Given the description of an element on the screen output the (x, y) to click on. 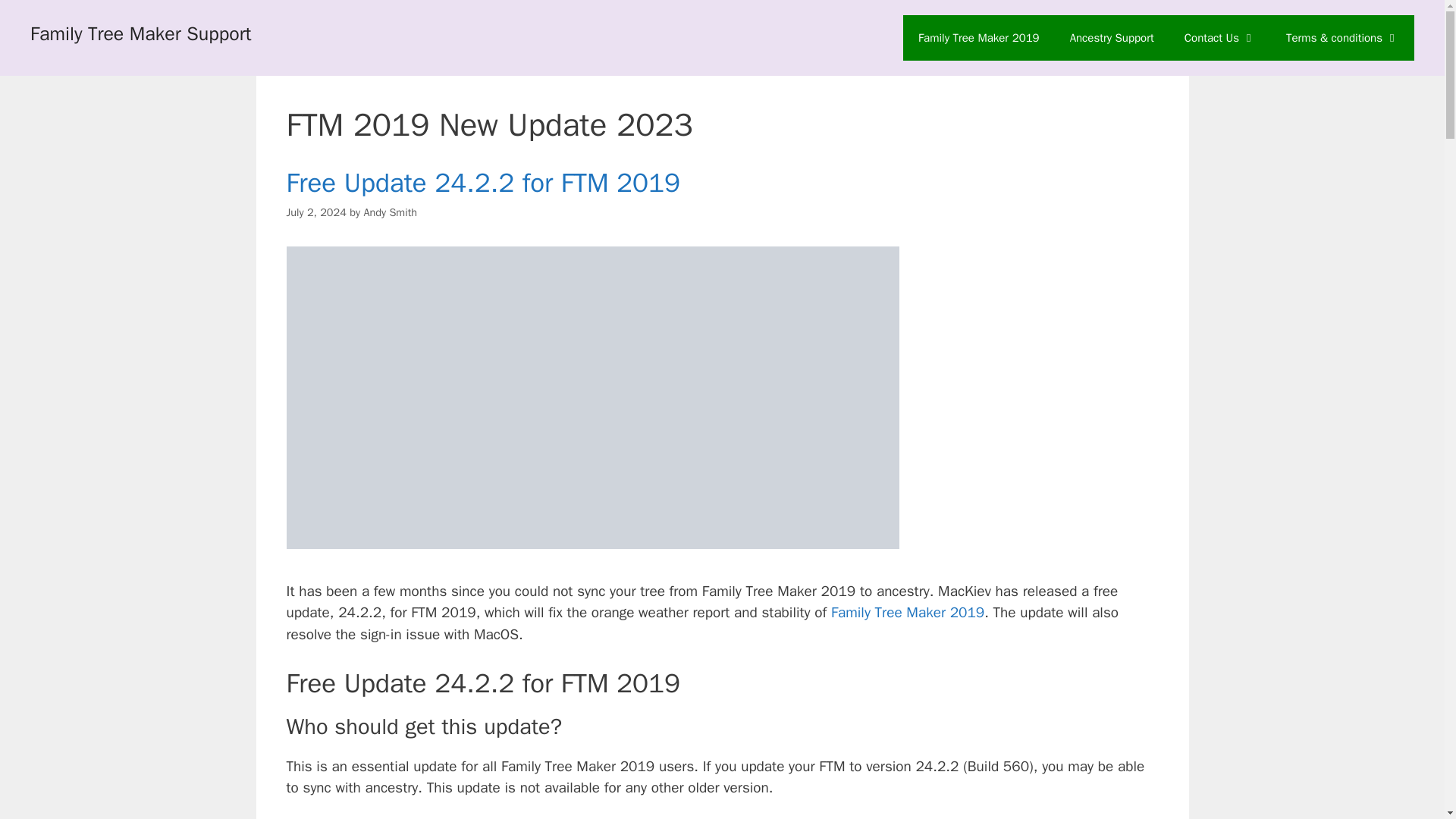
Ancestry Support (1111, 37)
Free Update 24.2.2 for FTM 2019 (483, 182)
Family Tree Maker 2019 (978, 37)
Family Tree Maker Support (140, 33)
Contact Us (1220, 37)
Andy Smith (389, 212)
View all posts by Andy Smith (389, 212)
Family Tree Maker 2019 (907, 612)
